Given the description of an element on the screen output the (x, y) to click on. 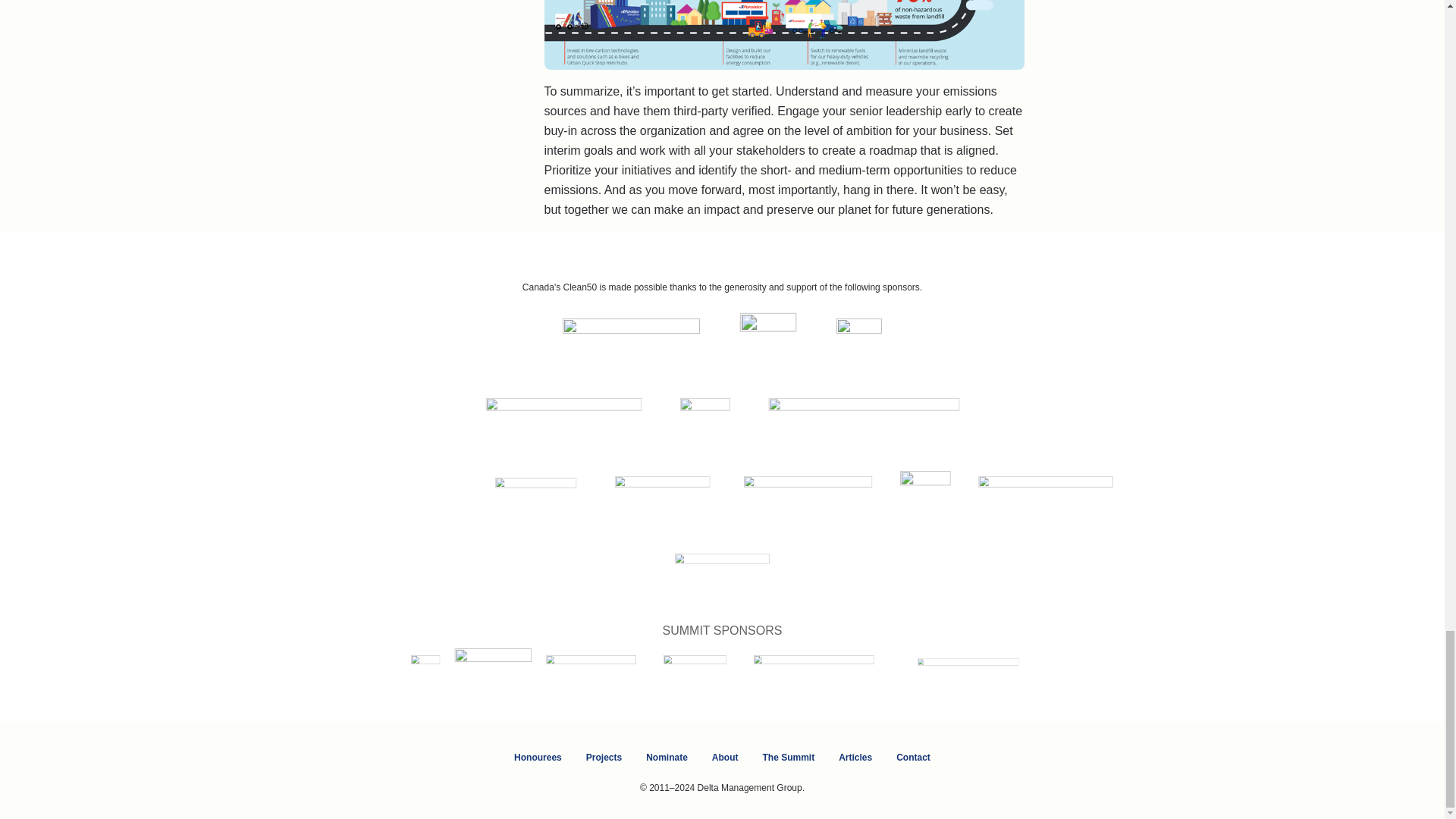
Projects (603, 758)
QuadReal (829, 498)
Contact (912, 758)
Flow Hydration (510, 678)
MACKENZIE Investments (577, 420)
Nominate (666, 758)
About (725, 758)
Beaus All Natural Brewing Co. (434, 678)
Southbrook Vineyards (852, 678)
GLOBE Series (746, 576)
Honourees (537, 758)
Enwave (678, 498)
Staples (1011, 678)
Vancity Community Investment Bank (881, 420)
Sharc (714, 678)
